Given the description of an element on the screen output the (x, y) to click on. 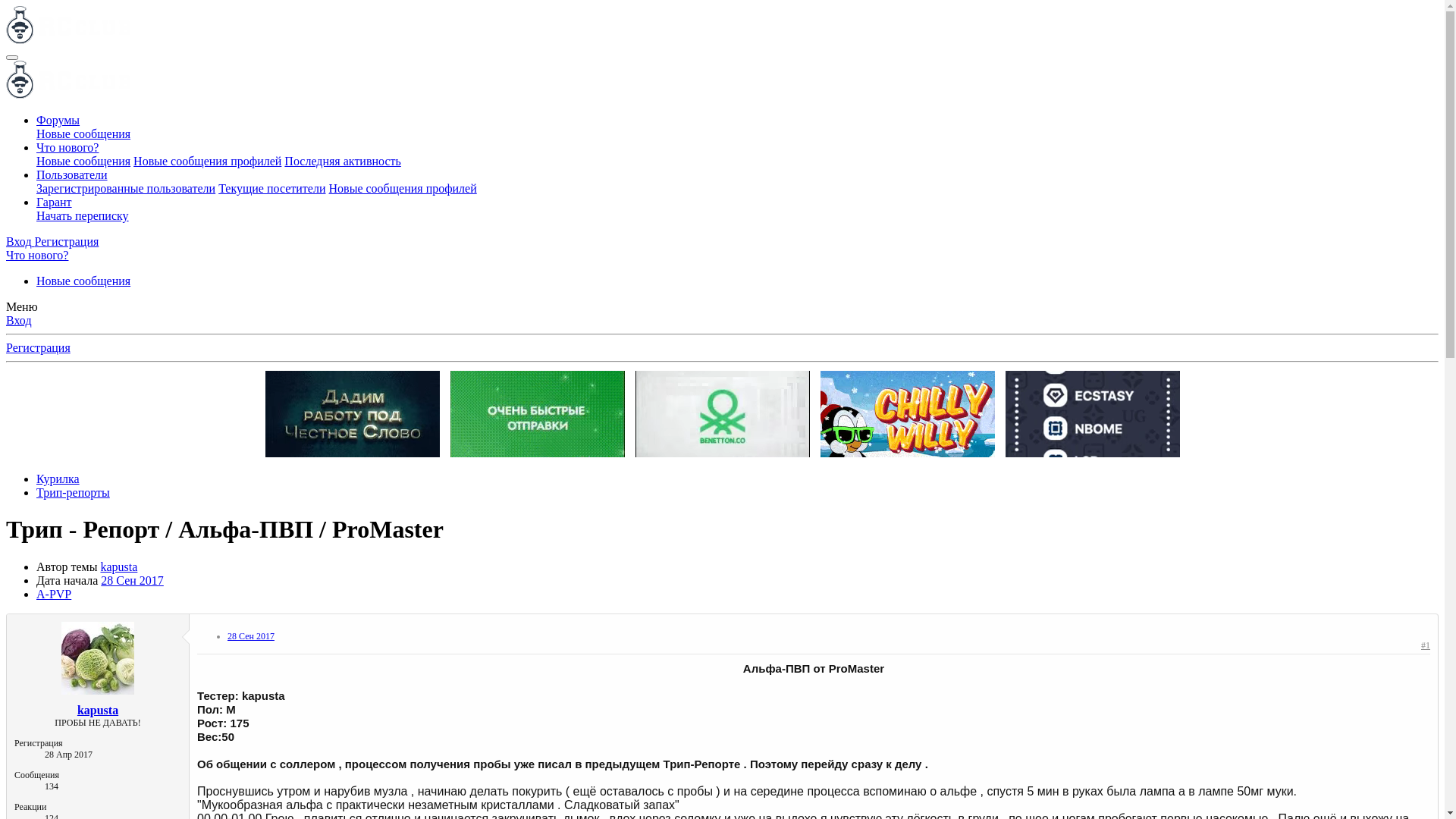
A-PVP Element type: text (53, 593)
kapusta Element type: text (118, 566)
kapusta Element type: text (97, 709)
#1 Element type: text (1425, 645)
